Given the description of an element on the screen output the (x, y) to click on. 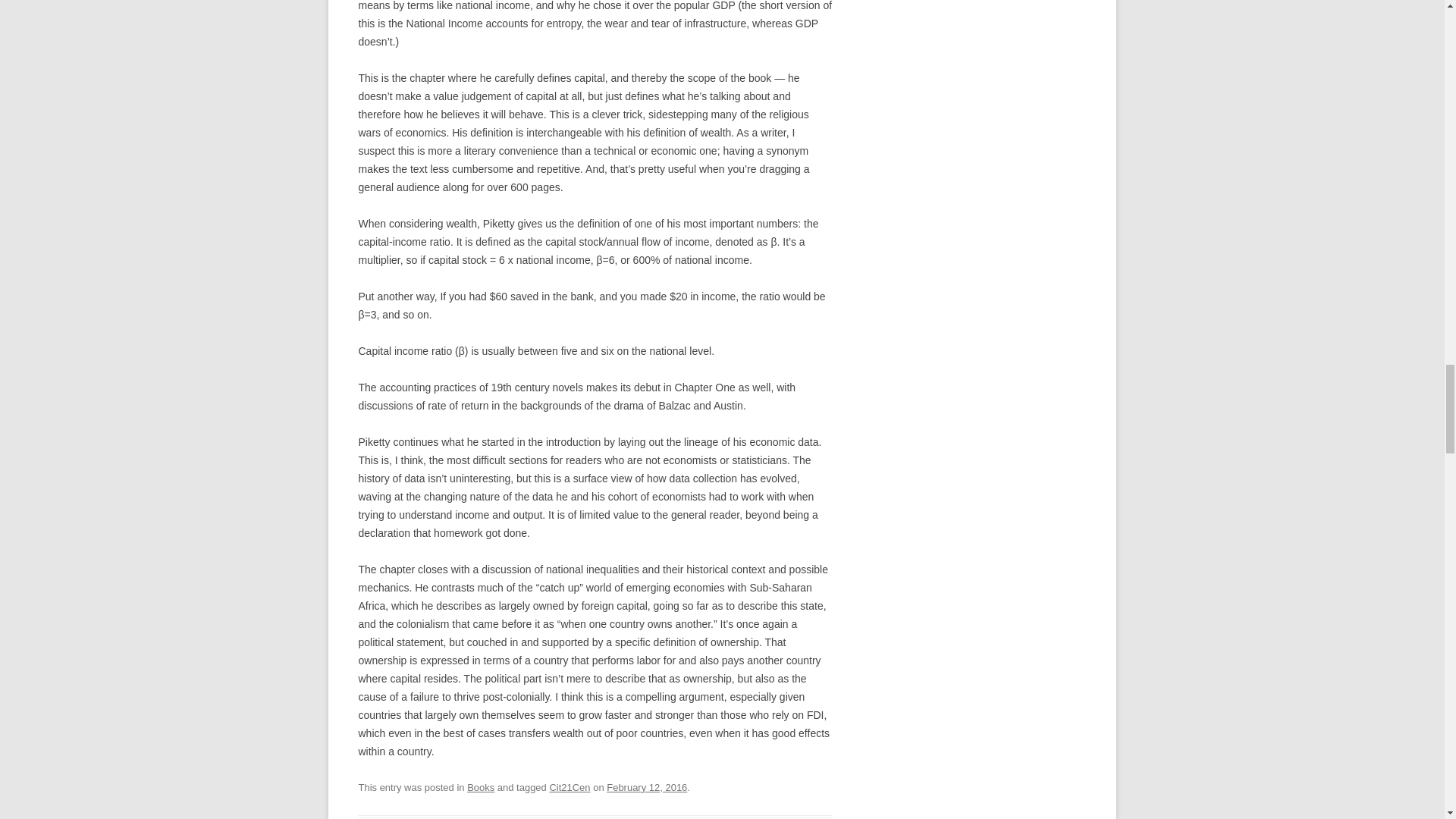
February 12, 2016 (647, 787)
8:16 pm (647, 787)
Books (481, 787)
Cit21Cen (568, 787)
